Given the description of an element on the screen output the (x, y) to click on. 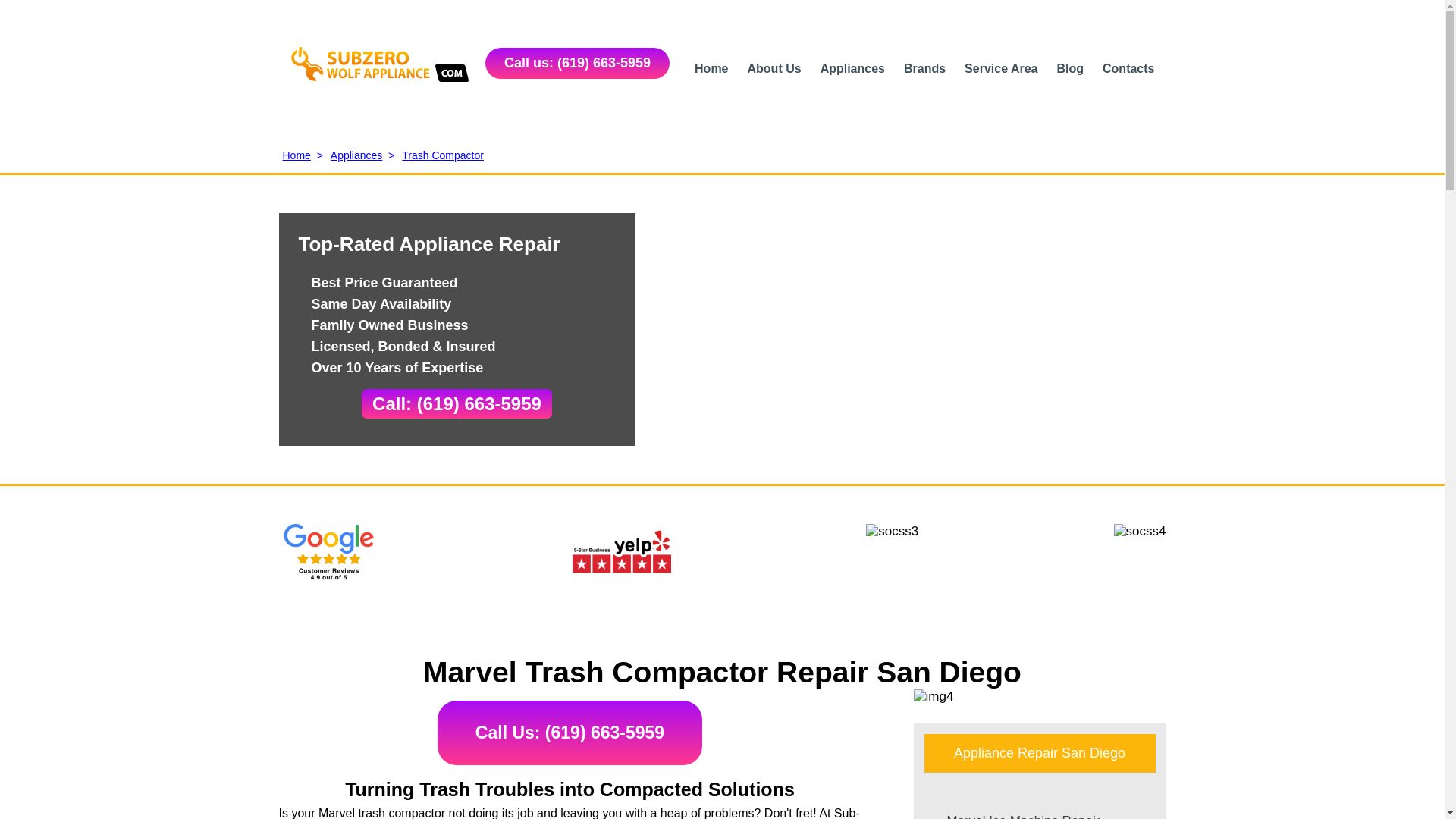
Brands (924, 68)
Appliances (853, 68)
Home (711, 68)
About Us (775, 68)
